Given the description of an element on the screen output the (x, y) to click on. 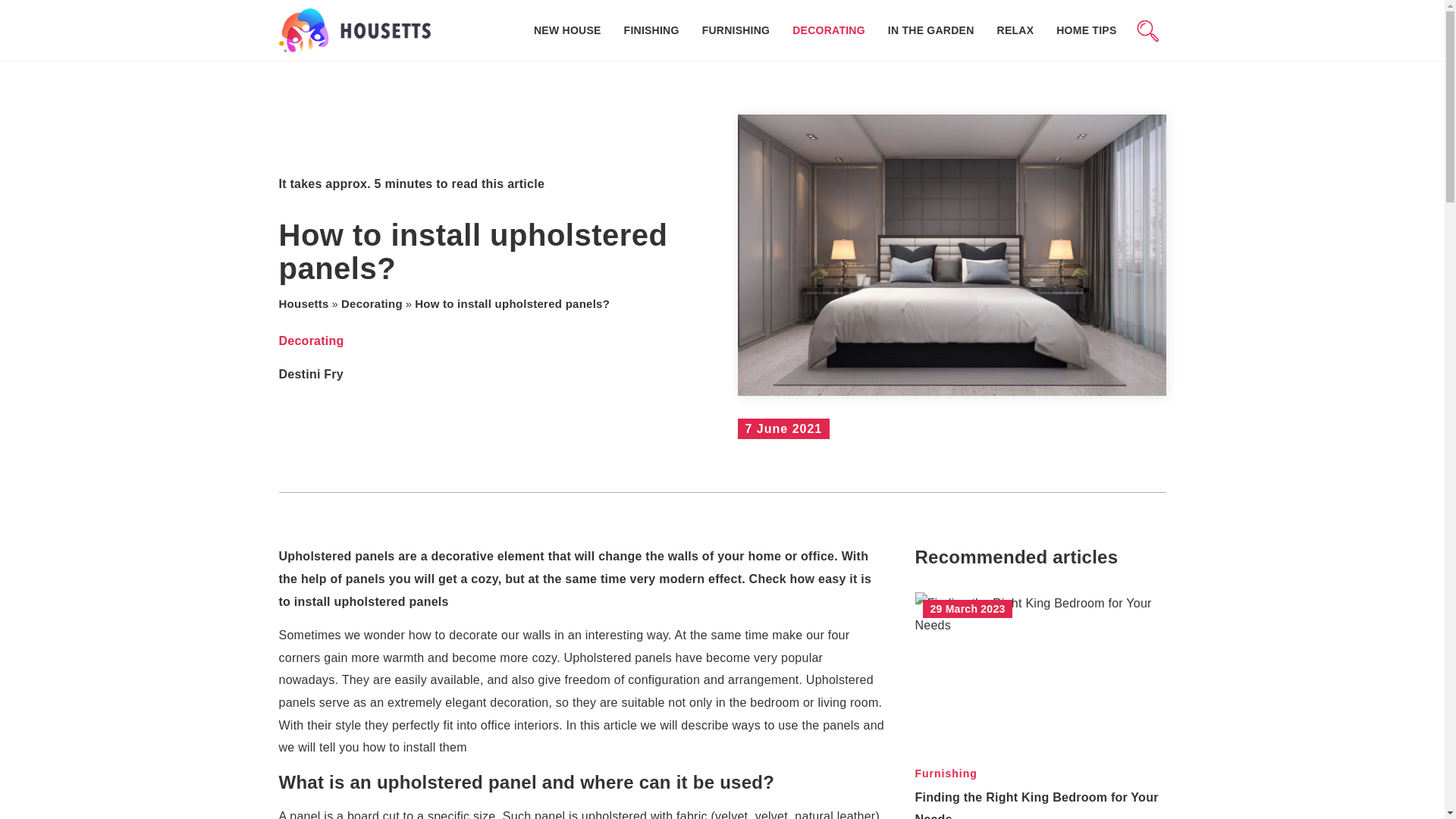
DECORATING (828, 29)
RELAX (1015, 29)
Destini Fry (311, 374)
FINISHING (651, 29)
FURNISHING (735, 29)
HOME TIPS (1086, 29)
Finding the Right King Bedroom for Your Needs (1035, 805)
IN THE GARDEN (931, 29)
NEW HOUSE (567, 29)
Decorating (311, 341)
